Given the description of an element on the screen output the (x, y) to click on. 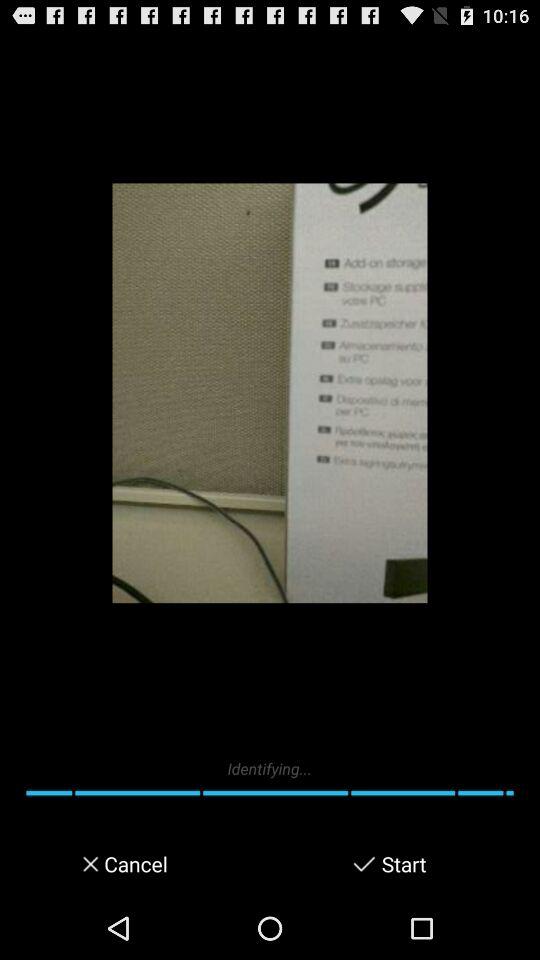
press the cancel item (134, 863)
